Given the description of an element on the screen output the (x, y) to click on. 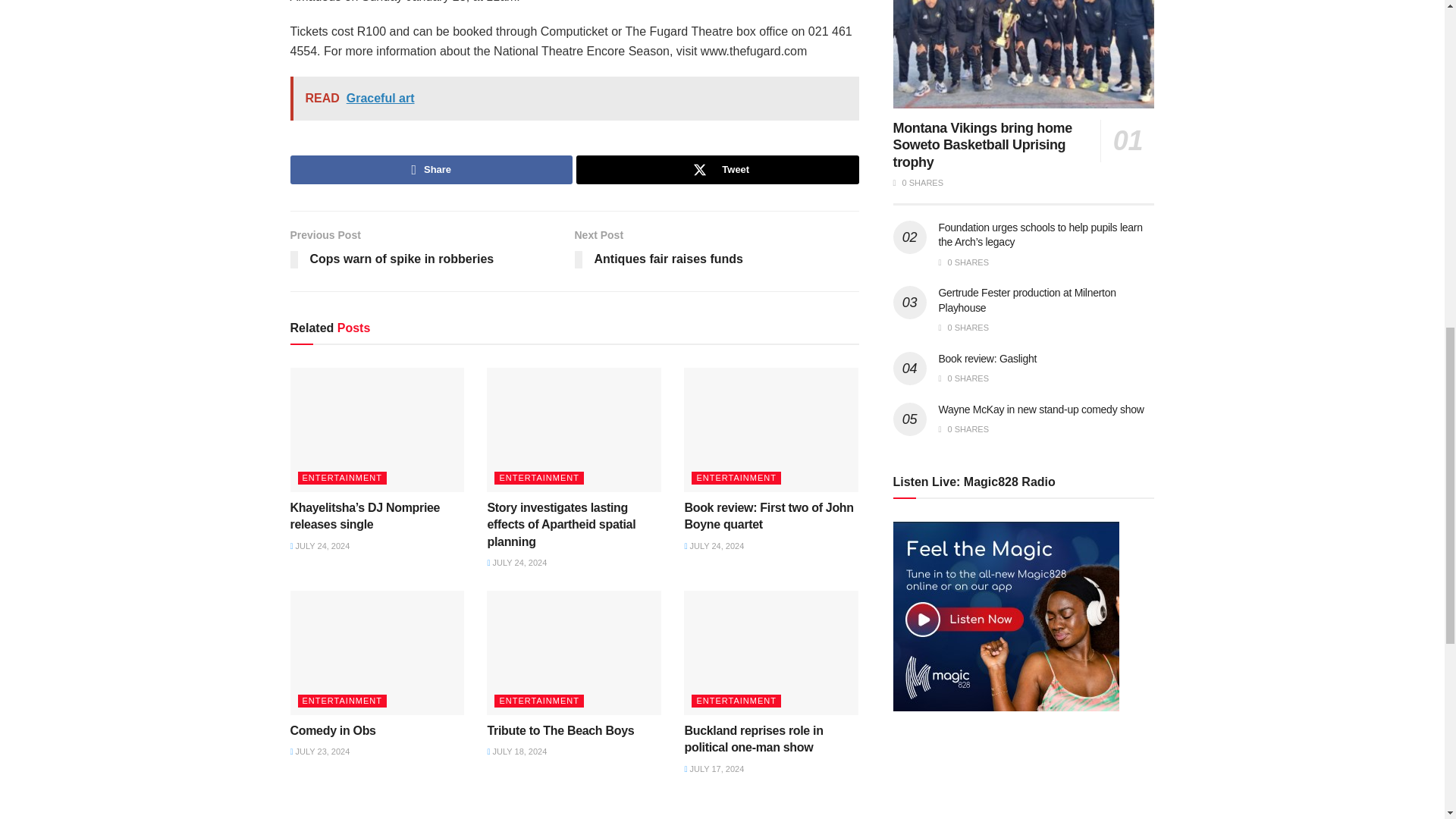
Tweet (431, 251)
Share (717, 169)
READ  Graceful art (430, 169)
